Given the description of an element on the screen output the (x, y) to click on. 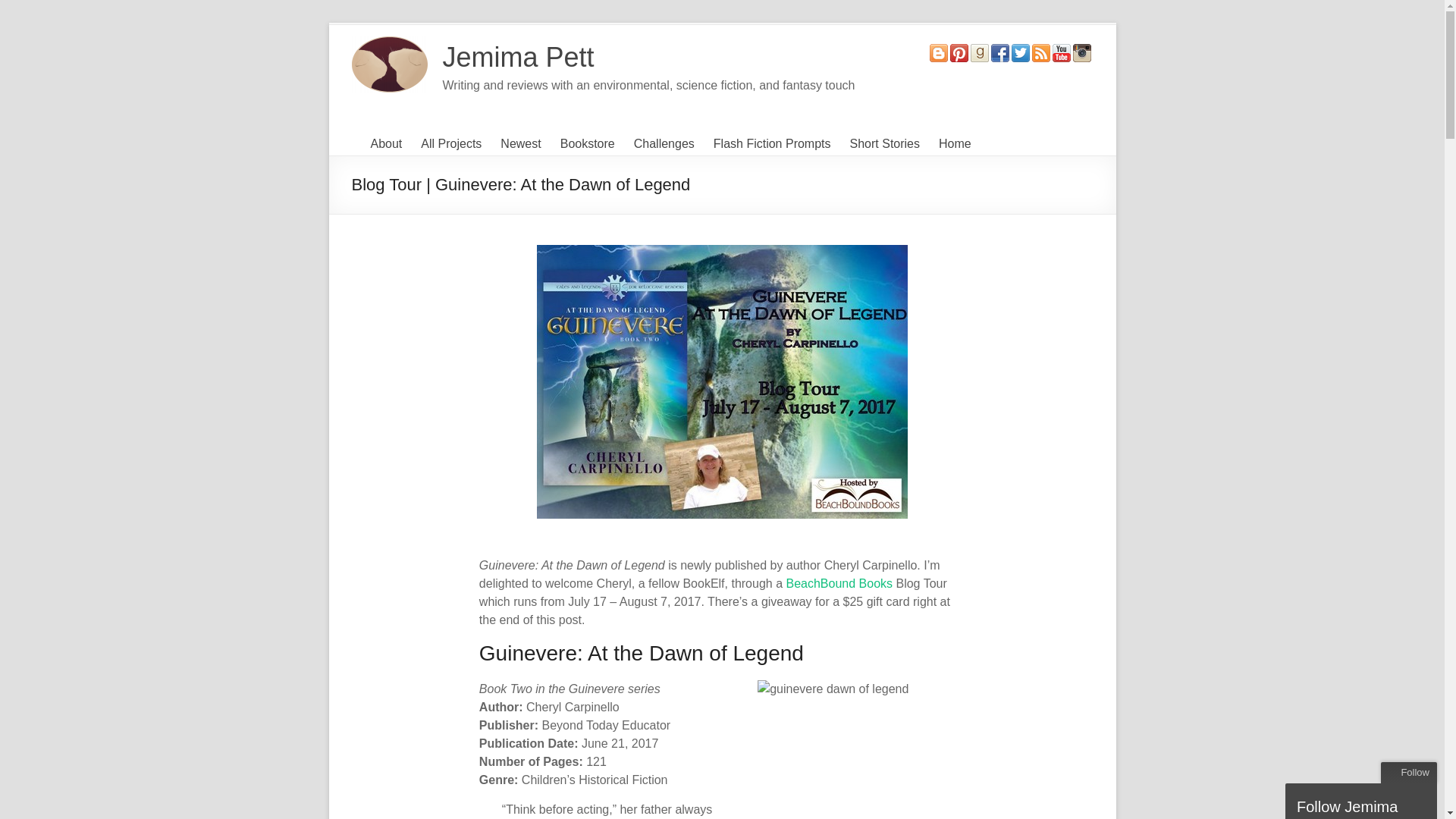
Connect on Facebook (999, 51)
Jemima Pett (518, 56)
Blogger Blog (938, 51)
Bookstore (587, 143)
About (385, 143)
Jemima Pett (518, 56)
All Projects (450, 143)
Newest (520, 143)
Goodreads (979, 51)
